Given the description of an element on the screen output the (x, y) to click on. 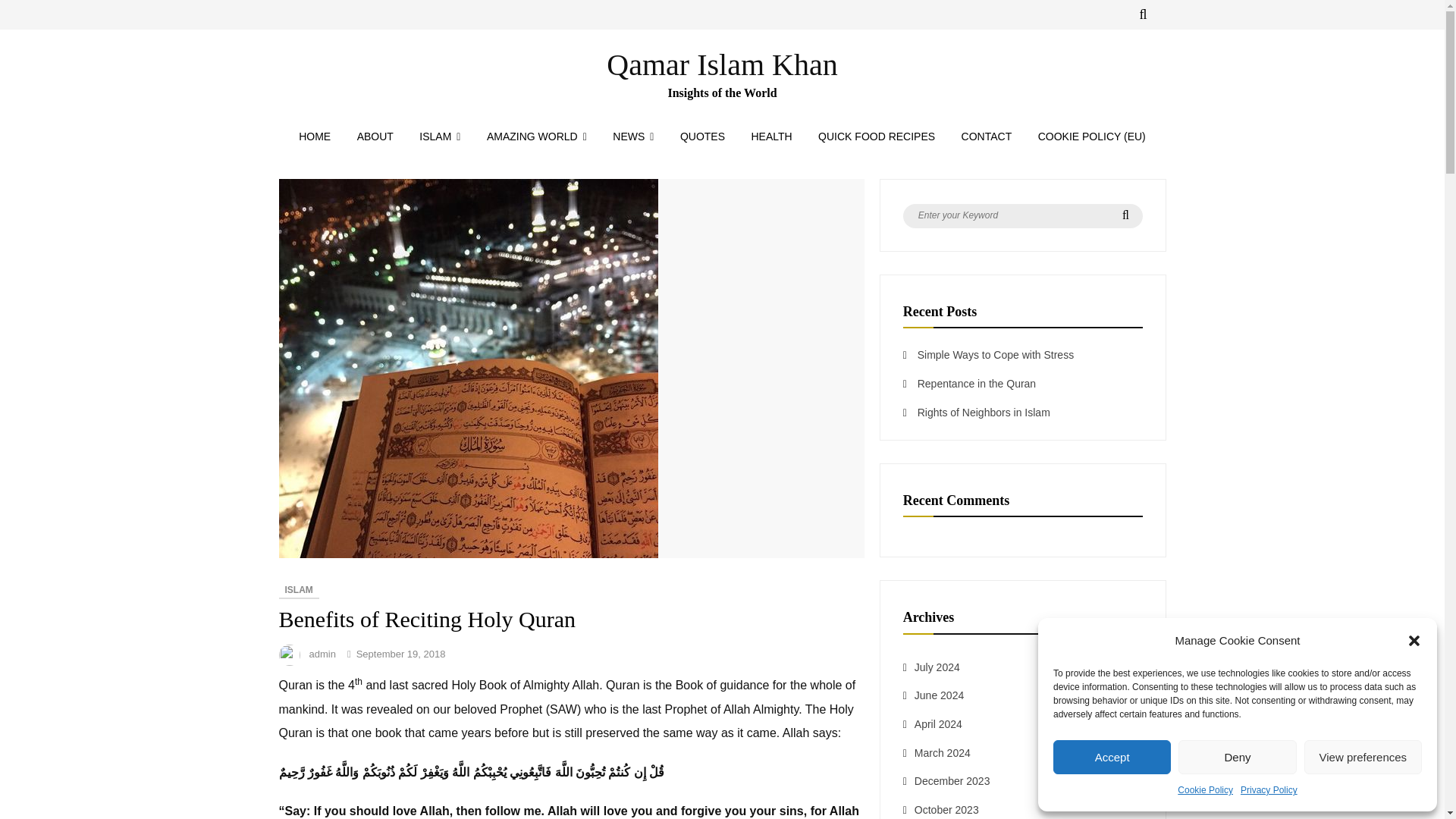
Benefits of Reciting Holy Quran (468, 553)
ISLAM (298, 590)
ISLAM (439, 136)
ABOUT (375, 136)
QUICK FOOD RECIPES (876, 136)
CONTACT (986, 136)
Accept (1111, 756)
HEALTH (771, 136)
NEWS (633, 136)
HOME (314, 136)
